Given the description of an element on the screen output the (x, y) to click on. 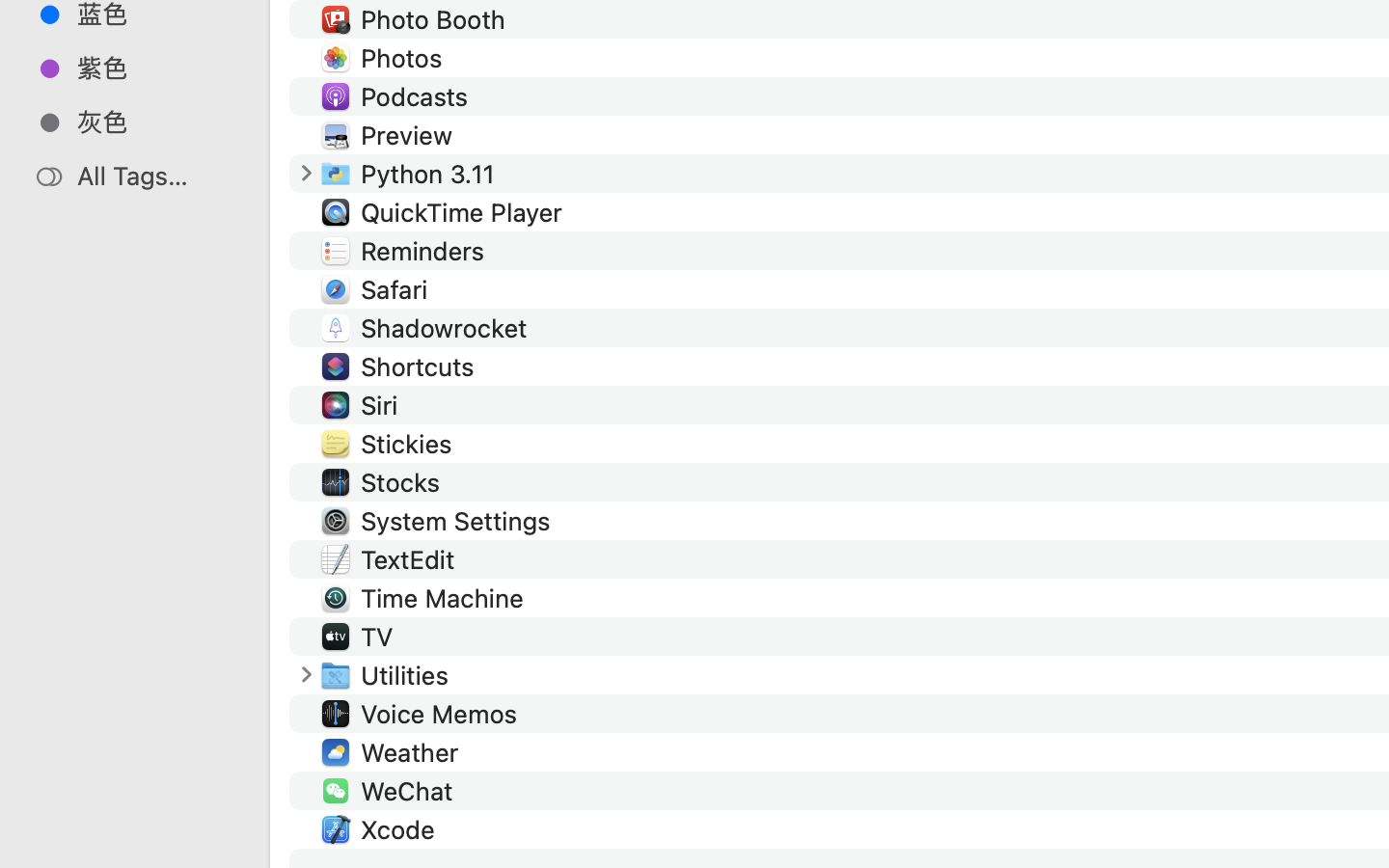
QuickTime Player Element type: AXTextField (465, 211)
Photos Element type: AXTextField (405, 57)
Applications Element type: AXStaticText (875, 786)
Siri Element type: AXTextField (383, 404)
Photo Booth Element type: AXTextField (436, 18)
